Given the description of an element on the screen output the (x, y) to click on. 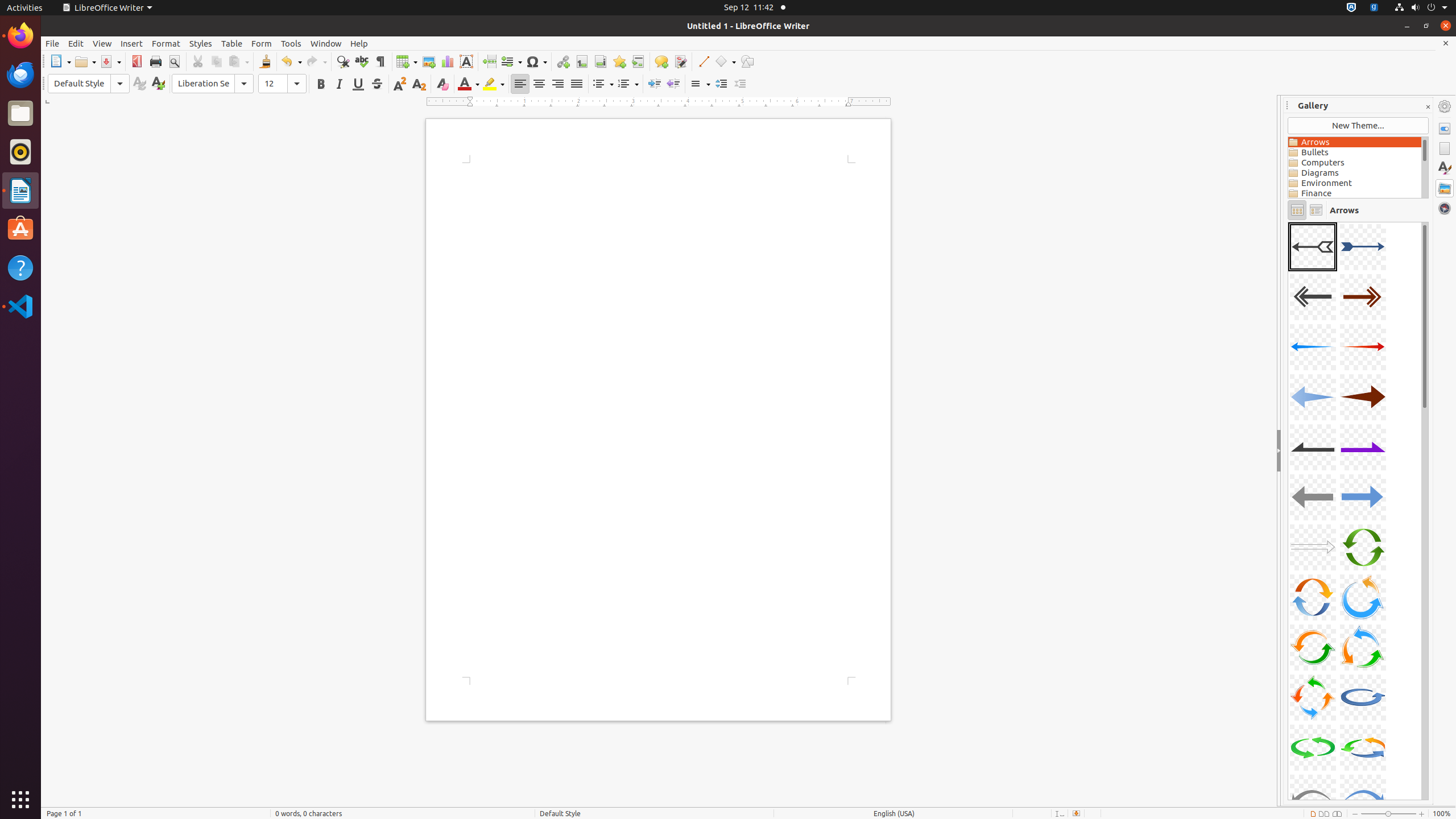
Subscript Element type: toggle-button (418, 83)
A05-Arrow-Blue-Left Element type: list-item (1312, 346)
Basic Shapes Element type: push-button (724, 61)
A07-Arrow-LightBlue-Left Element type: list-item (1312, 396)
A23-CurvedArrow-Gray-Left Element type: list-item (1288, 222)
